Given the description of an element on the screen output the (x, y) to click on. 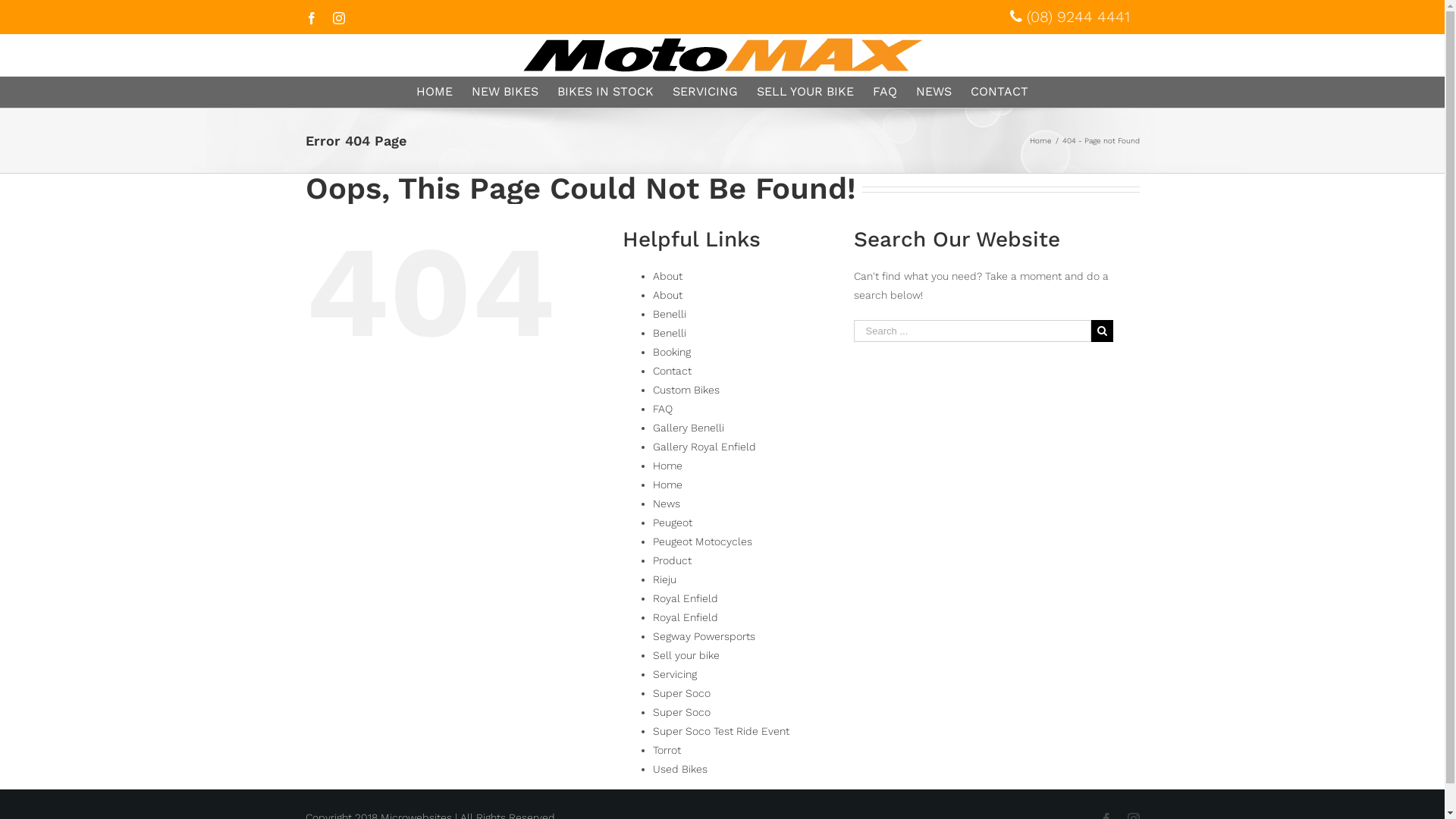
Rieju Element type: text (664, 579)
Torrot Element type: text (666, 749)
About Element type: text (667, 275)
News Element type: text (666, 503)
Gallery Royal Enfield Element type: text (704, 446)
Instagram Element type: text (338, 18)
Home Element type: text (1040, 140)
Benelli Element type: text (669, 313)
Facebook Element type: text (310, 18)
SERVICING Element type: text (704, 91)
Super Soco Element type: text (681, 712)
Home Element type: text (667, 484)
(08) 9244 4441 Element type: text (1069, 16)
Used Bikes Element type: text (679, 768)
Benelli Element type: text (669, 332)
Super Soco Element type: text (681, 693)
Super Soco Test Ride Event Element type: text (720, 730)
Royal Enfield Element type: text (685, 617)
Home Element type: text (667, 465)
FAQ Element type: text (662, 408)
Contact Element type: text (671, 370)
NEWS Element type: text (933, 91)
BIKES IN STOCK Element type: text (605, 91)
Peugeot Element type: text (672, 522)
Booking Element type: text (671, 351)
CONTACT Element type: text (999, 91)
Peugeot Motocycles Element type: text (702, 541)
NEW BIKES Element type: text (504, 91)
Custom Bikes Element type: text (685, 389)
Segway Powersports Element type: text (703, 636)
About Element type: text (667, 294)
Servicing Element type: text (674, 674)
Royal Enfield Element type: text (685, 598)
Sell your bike Element type: text (685, 655)
HOME Element type: text (434, 91)
Product Element type: text (671, 560)
FAQ Element type: text (884, 91)
SELL YOUR BIKE Element type: text (804, 91)
Gallery Benelli Element type: text (688, 427)
